Given the description of an element on the screen output the (x, y) to click on. 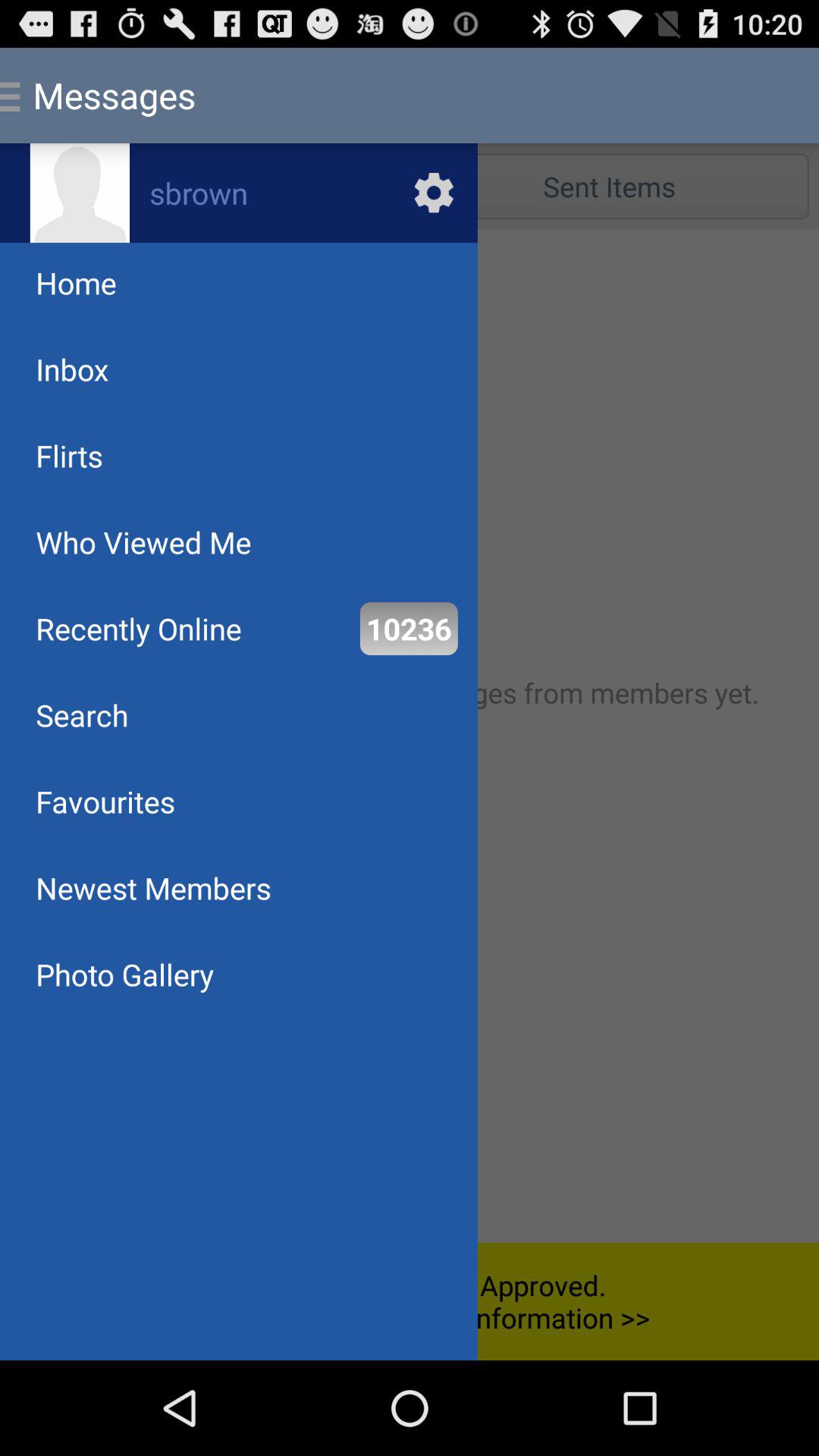
click the icon next to the inbox radio button (608, 186)
